Given the description of an element on the screen output the (x, y) to click on. 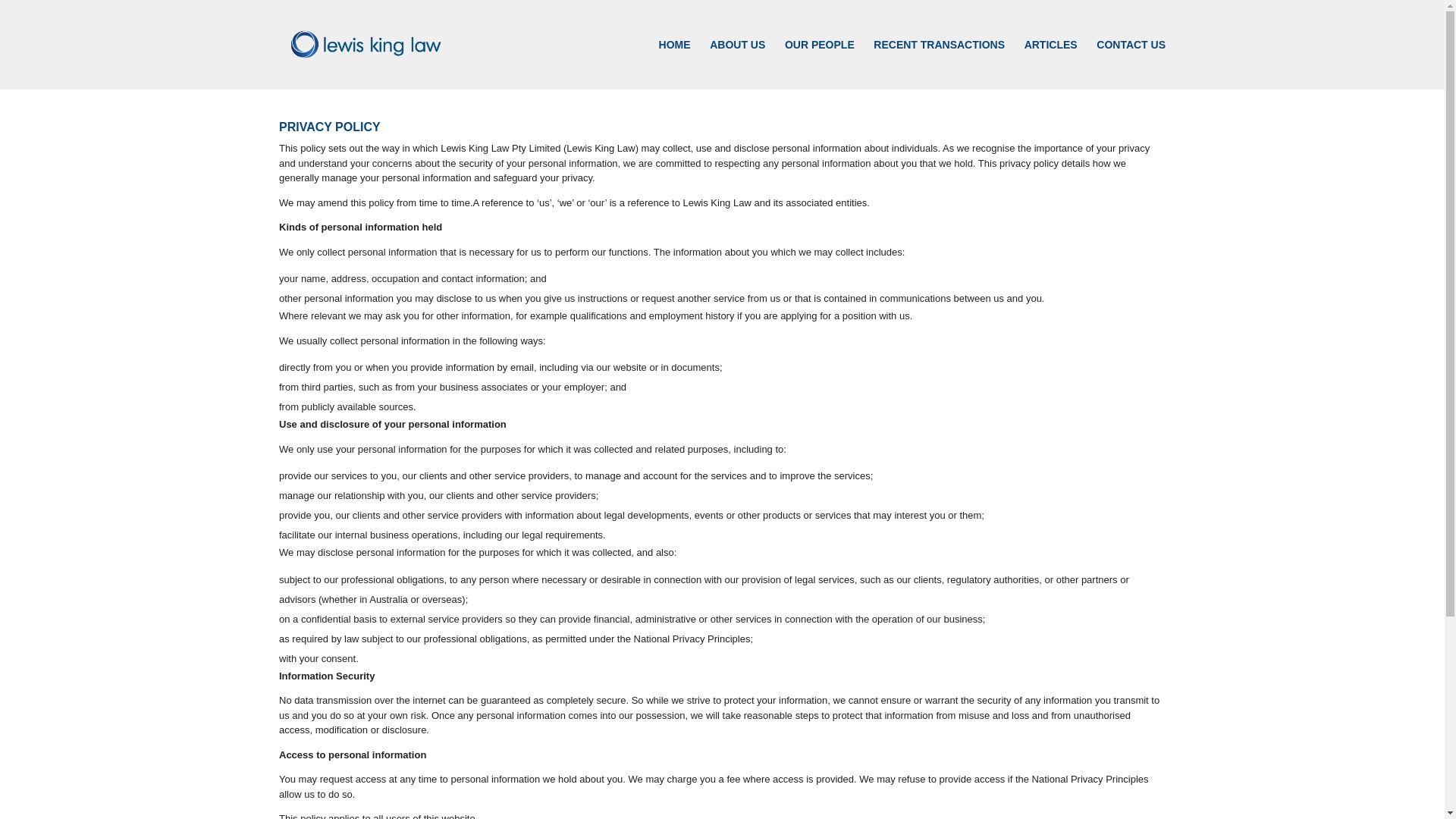
ARTICLES Element type: text (1050, 64)
CONTACT US Element type: text (1130, 64)
HOME Element type: text (674, 64)
RECENT TRANSACTIONS Element type: text (938, 64)
OUR PEOPLE Element type: text (819, 64)
ABOUT US Element type: text (737, 64)
